Given the description of an element on the screen output the (x, y) to click on. 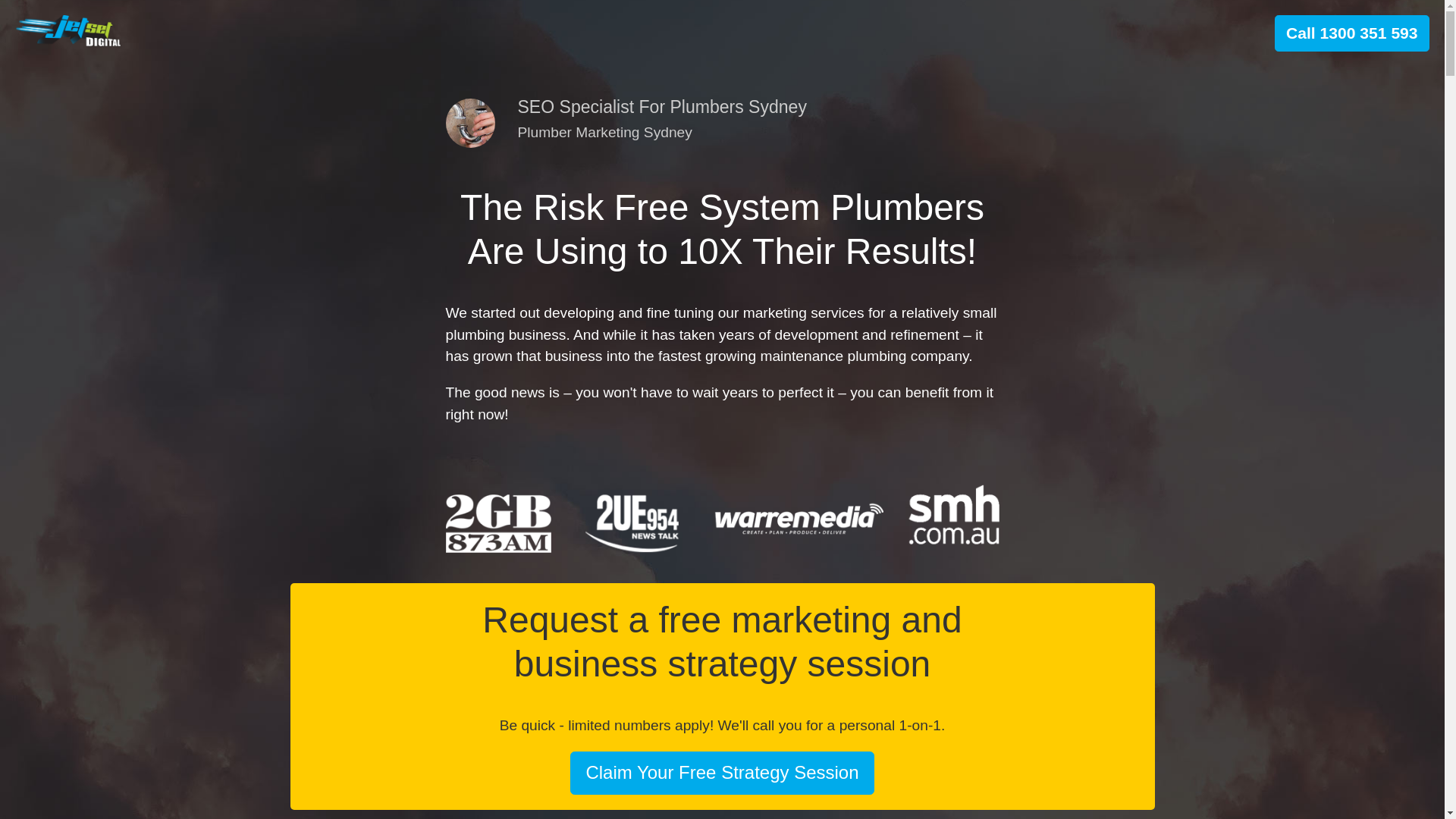
Call 1300 351 593 Element type: text (1351, 33)
Claim Your Free Strategy Session Element type: text (722, 772)
Jetset Digital Element type: hover (68, 29)
